Given the description of an element on the screen output the (x, y) to click on. 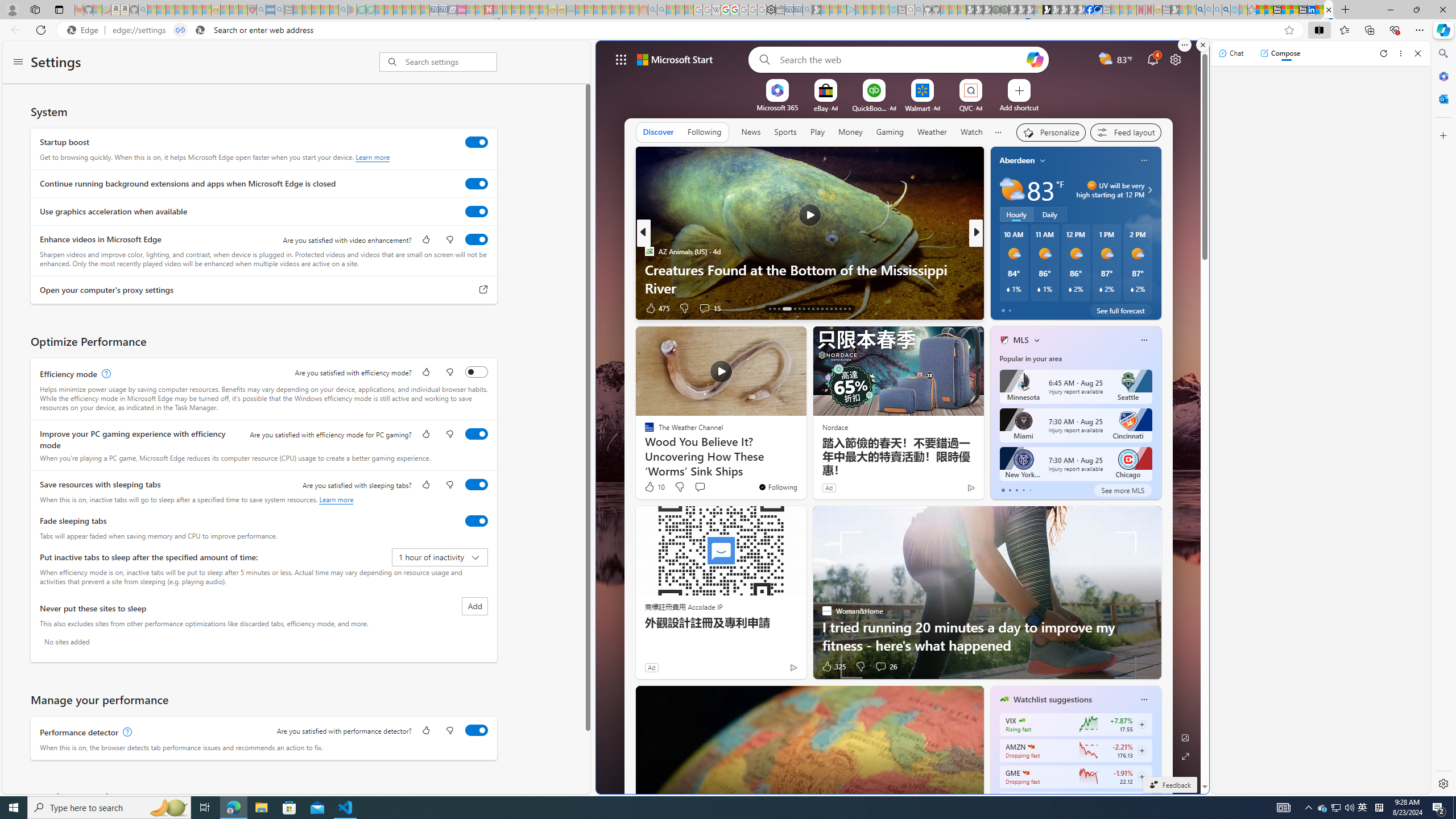
Tabs in split screen (180, 29)
AutomationID: tab-19 (803, 308)
AutomationID: tab-27 (840, 308)
The Independent (999, 250)
AutomationID: tab-16 (786, 308)
